Given the description of an element on the screen output the (x, y) to click on. 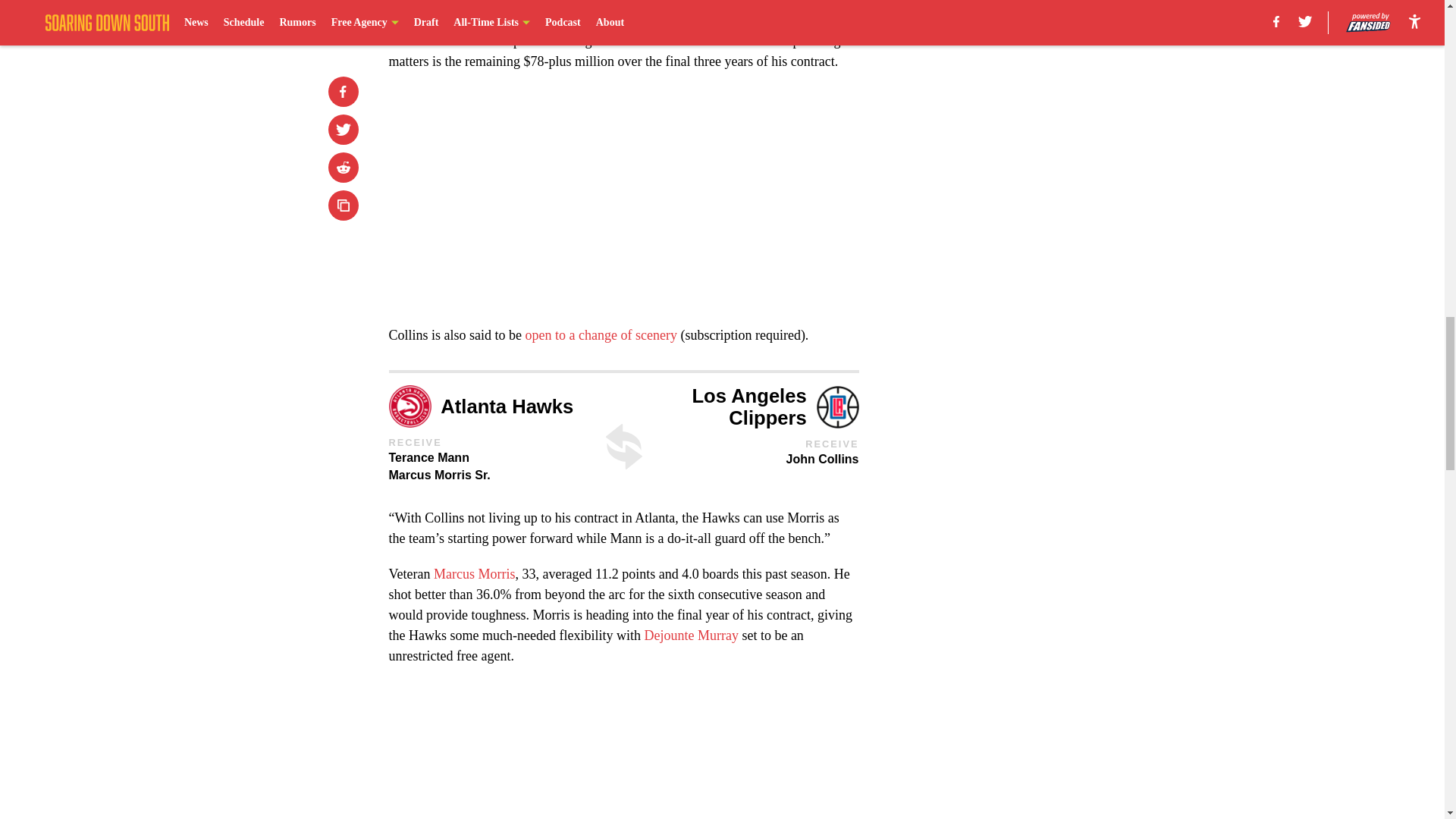
open to a change of scenery (600, 335)
Marcus Morris (474, 573)
Dejounte Murray (690, 635)
